Given the description of an element on the screen output the (x, y) to click on. 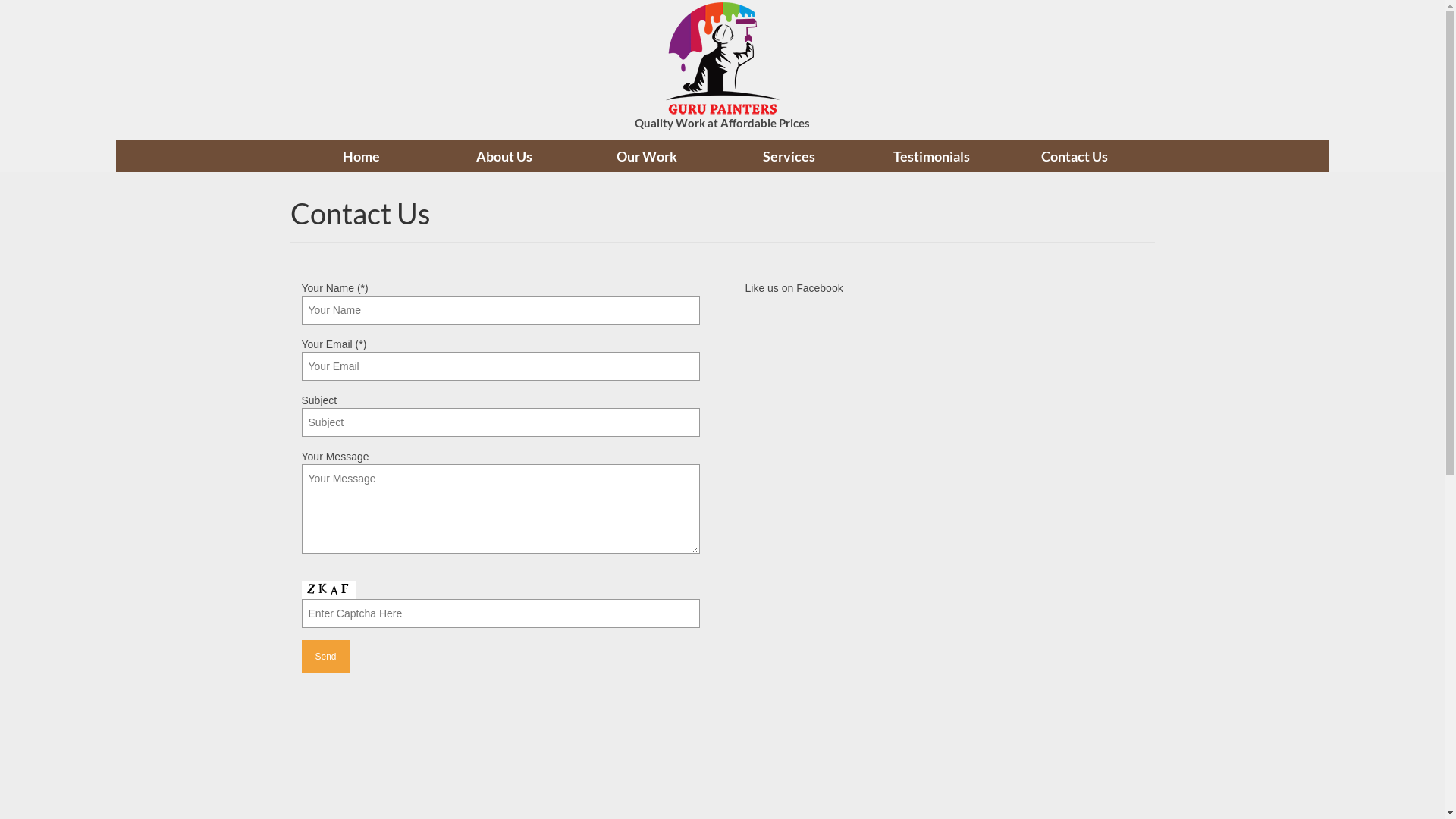
About Us Element type: text (504, 156)
Our Work Element type: text (646, 156)
Home Element type: text (360, 156)
Services Element type: text (789, 156)
Contact Us Element type: text (1074, 156)
Testimonials Element type: text (931, 156)
Send Element type: text (325, 656)
